Given the description of an element on the screen output the (x, y) to click on. 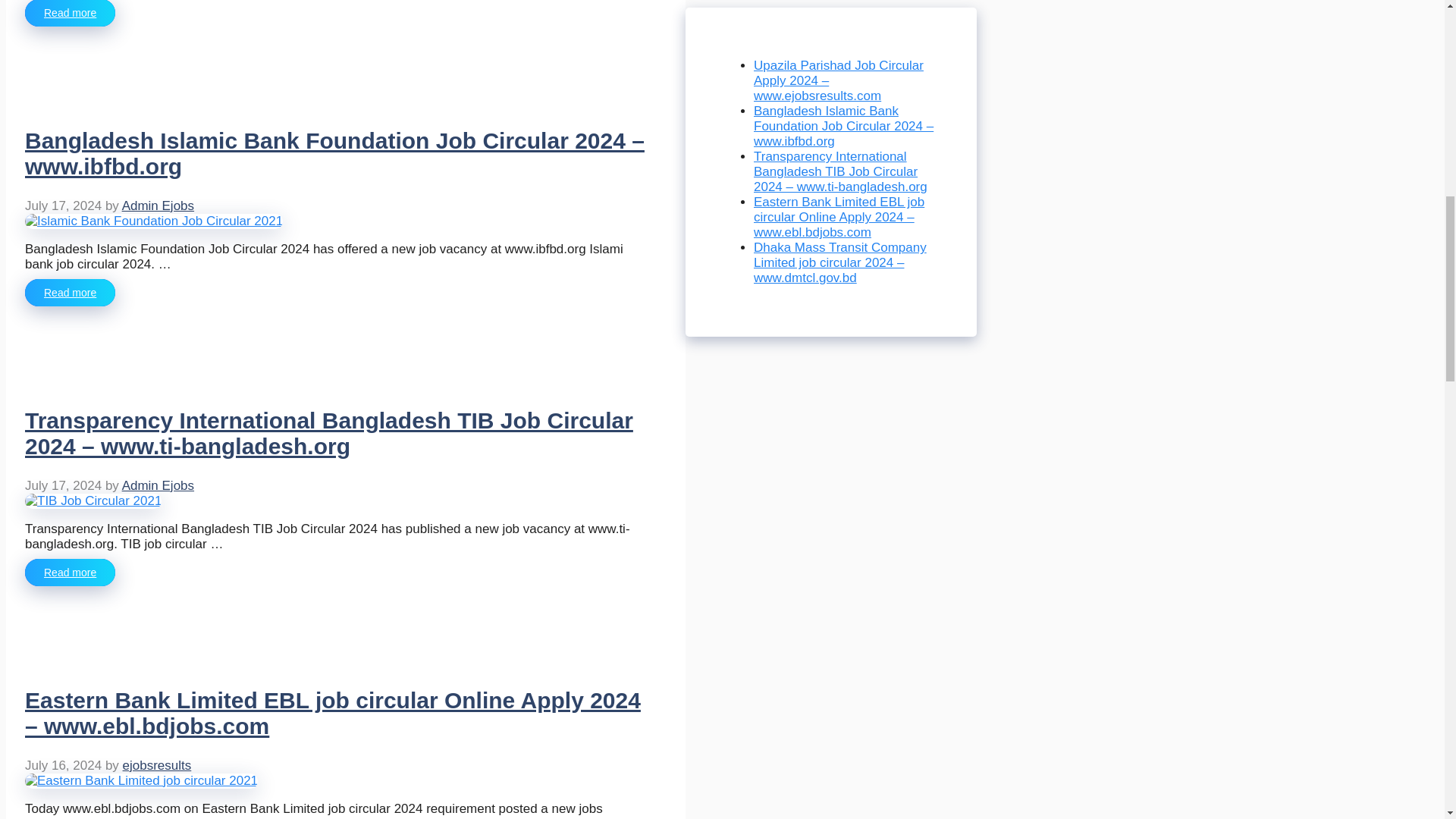
View all posts by Admin Ejobs (157, 205)
Read more (69, 13)
Admin Ejobs (157, 205)
View all posts by ejobsresults (157, 765)
View all posts by Admin Ejobs (157, 485)
Admin Ejobs (157, 485)
ejobsresults (157, 765)
Read more (69, 292)
Read more (69, 572)
